Given the description of an element on the screen output the (x, y) to click on. 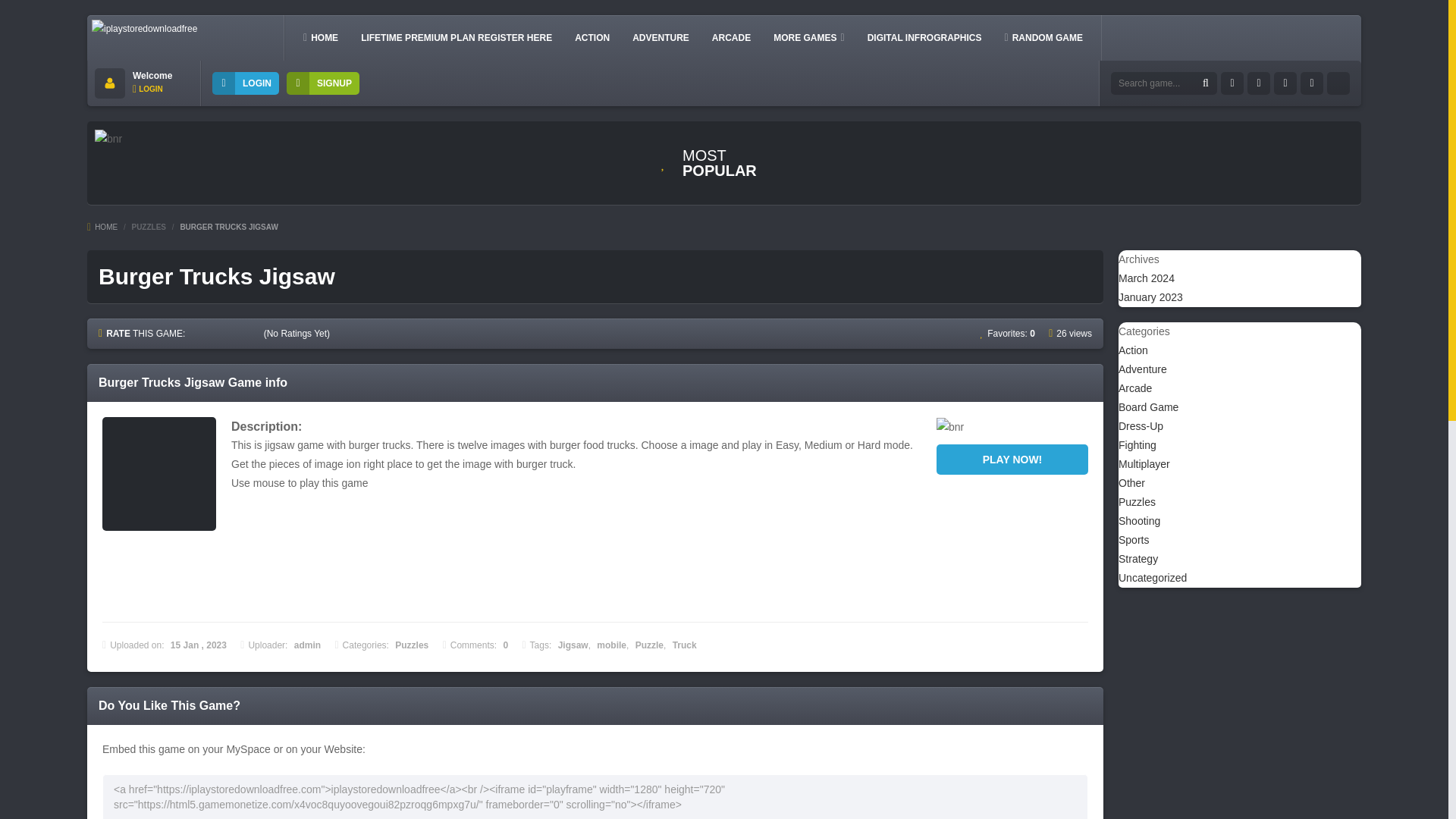
LOGIN (147, 89)
ARCADE (731, 37)
ADVENTURE (660, 37)
LIFETIME PREMIUM PLAN REGISTER HERE (456, 37)
Twitter (1258, 83)
MORE GAMES (808, 37)
RANDOM GAME (1043, 37)
DIGITAL INFROGRAPHICS (925, 37)
LOGIN (245, 83)
iplaystoredownloadfree (143, 28)
HOME (320, 37)
SIGNUP (322, 83)
Feed (1337, 83)
Feed (1311, 83)
ACTION (592, 37)
